Given the description of an element on the screen output the (x, y) to click on. 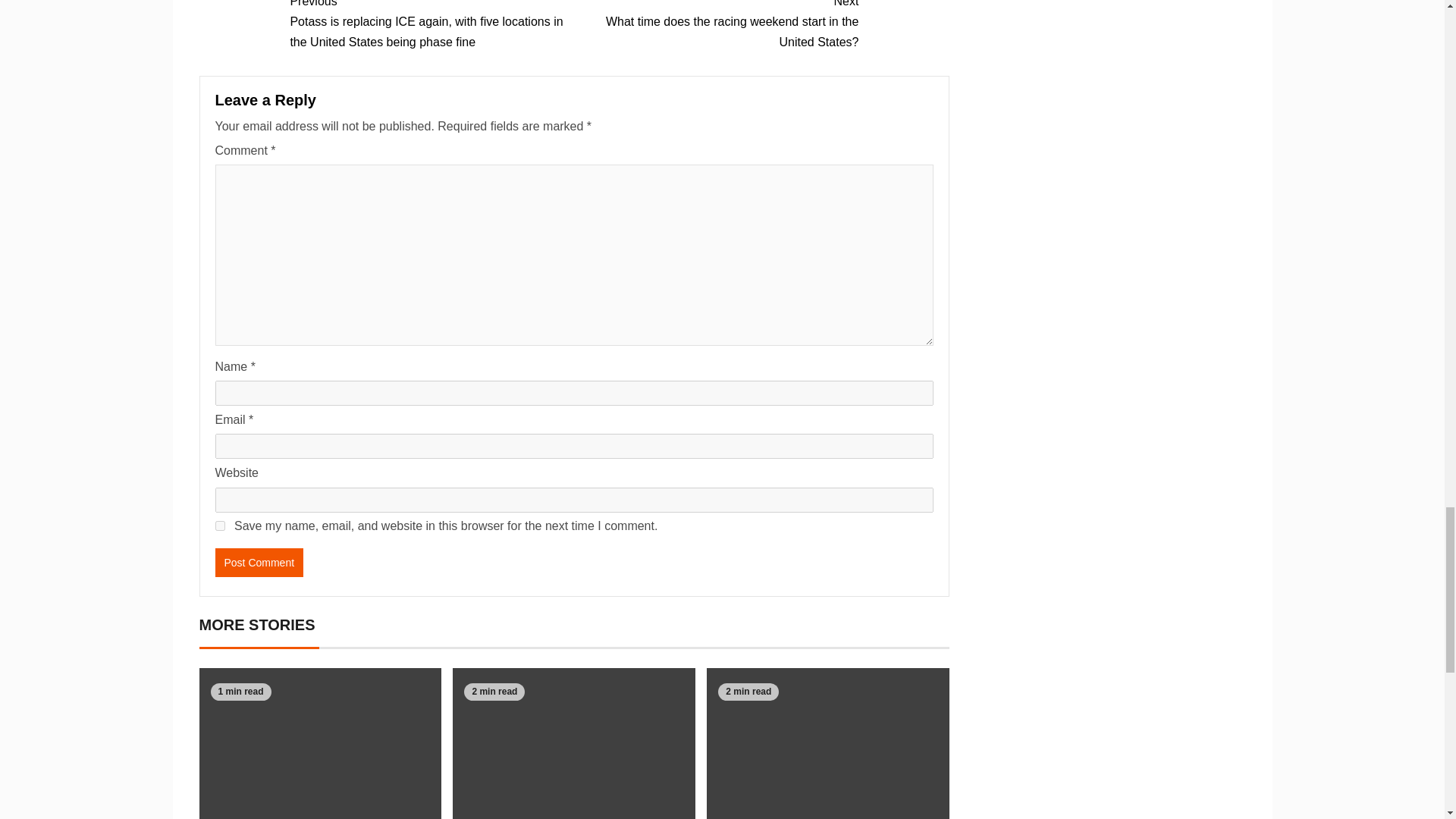
Post Comment (259, 562)
yes (220, 525)
